Given the description of an element on the screen output the (x, y) to click on. 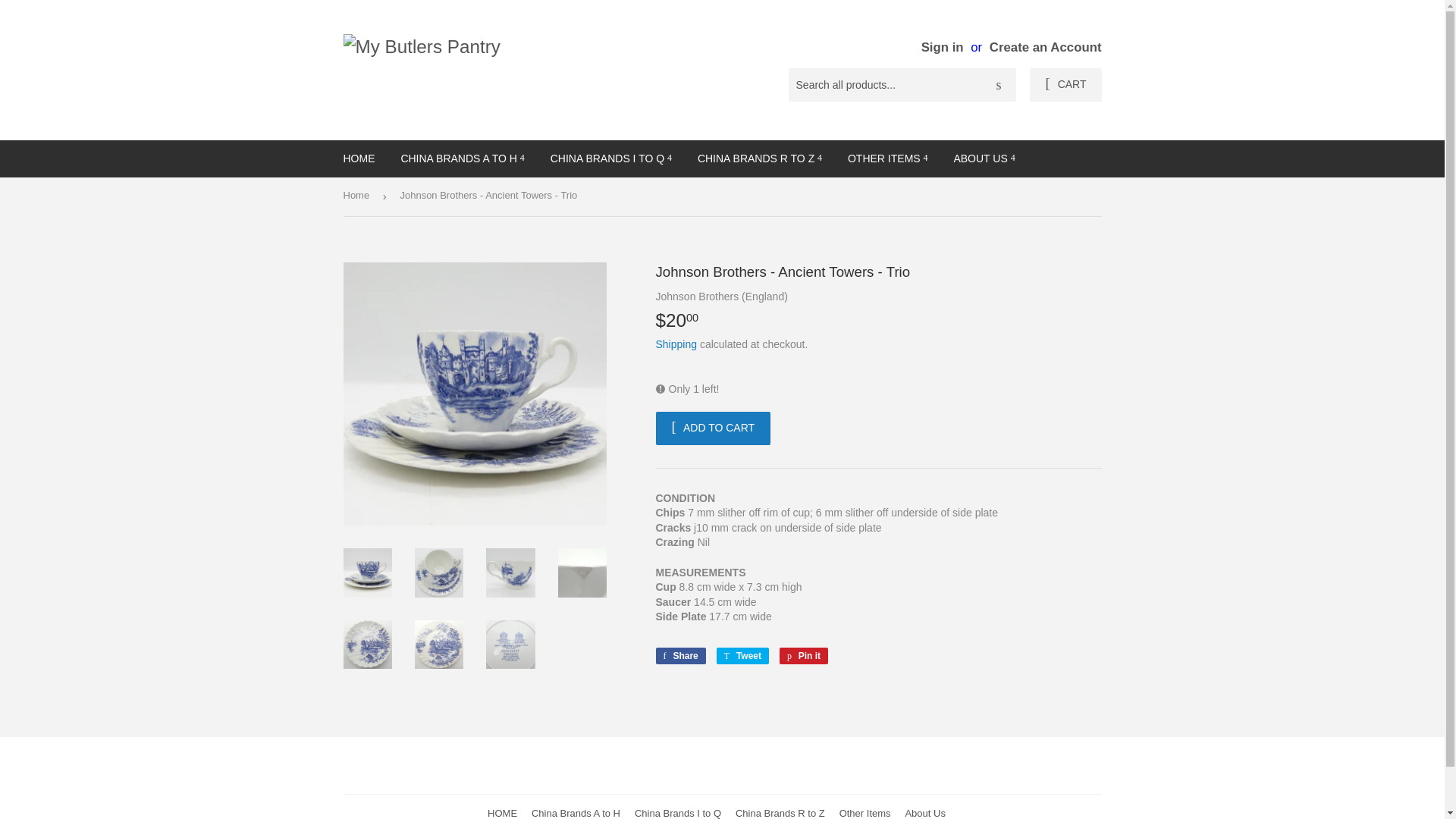
Create an Account (1046, 47)
Share on Facebook (679, 655)
Tweet on Twitter (742, 655)
Pin on Pinterest (803, 655)
Search (998, 85)
Sign in (942, 47)
CART (1064, 84)
